Given the description of an element on the screen output the (x, y) to click on. 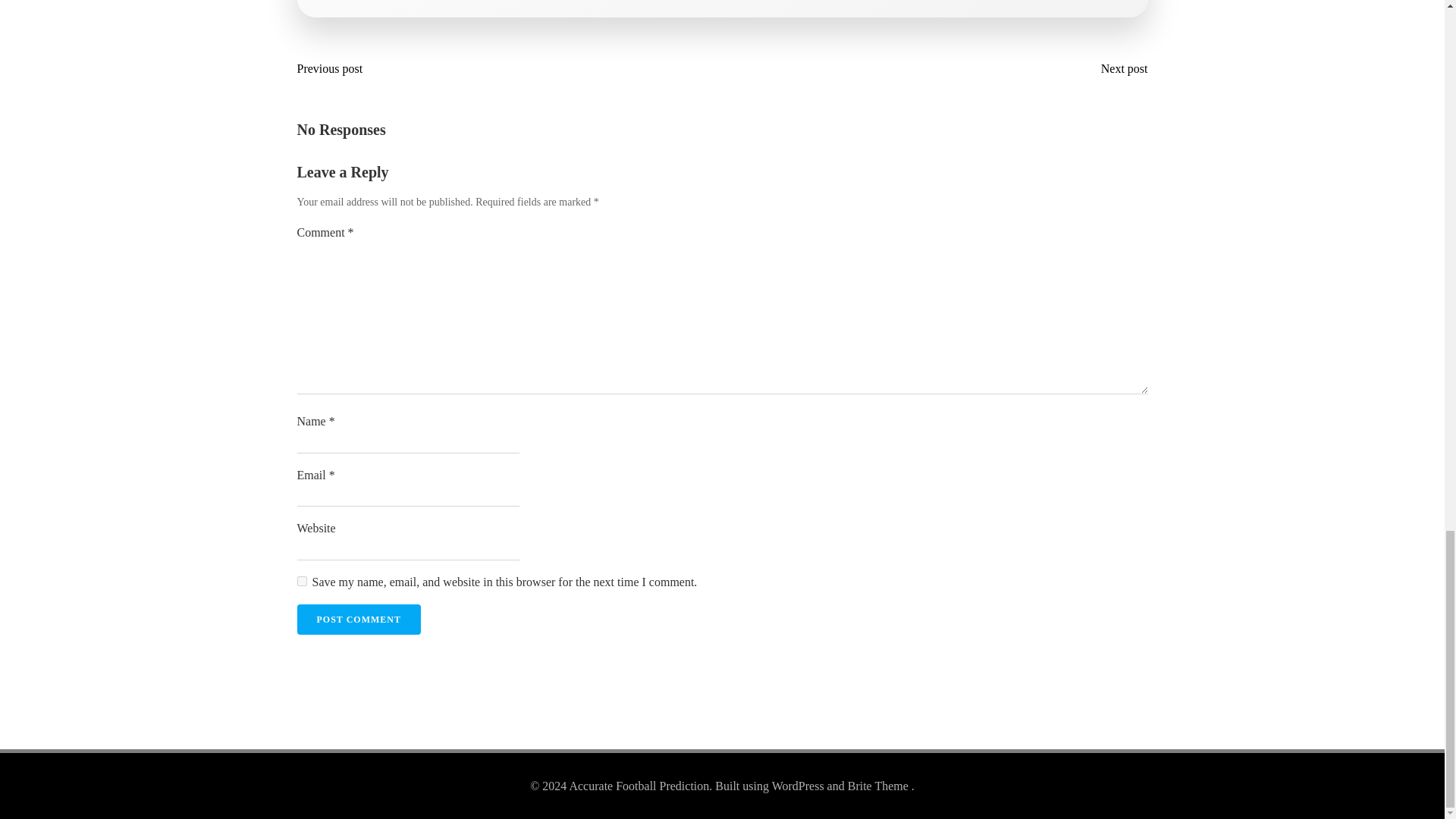
Previous post (334, 68)
yes (302, 581)
Post Comment (358, 619)
Post Comment (358, 619)
Next post (1120, 68)
